Given the description of an element on the screen output the (x, y) to click on. 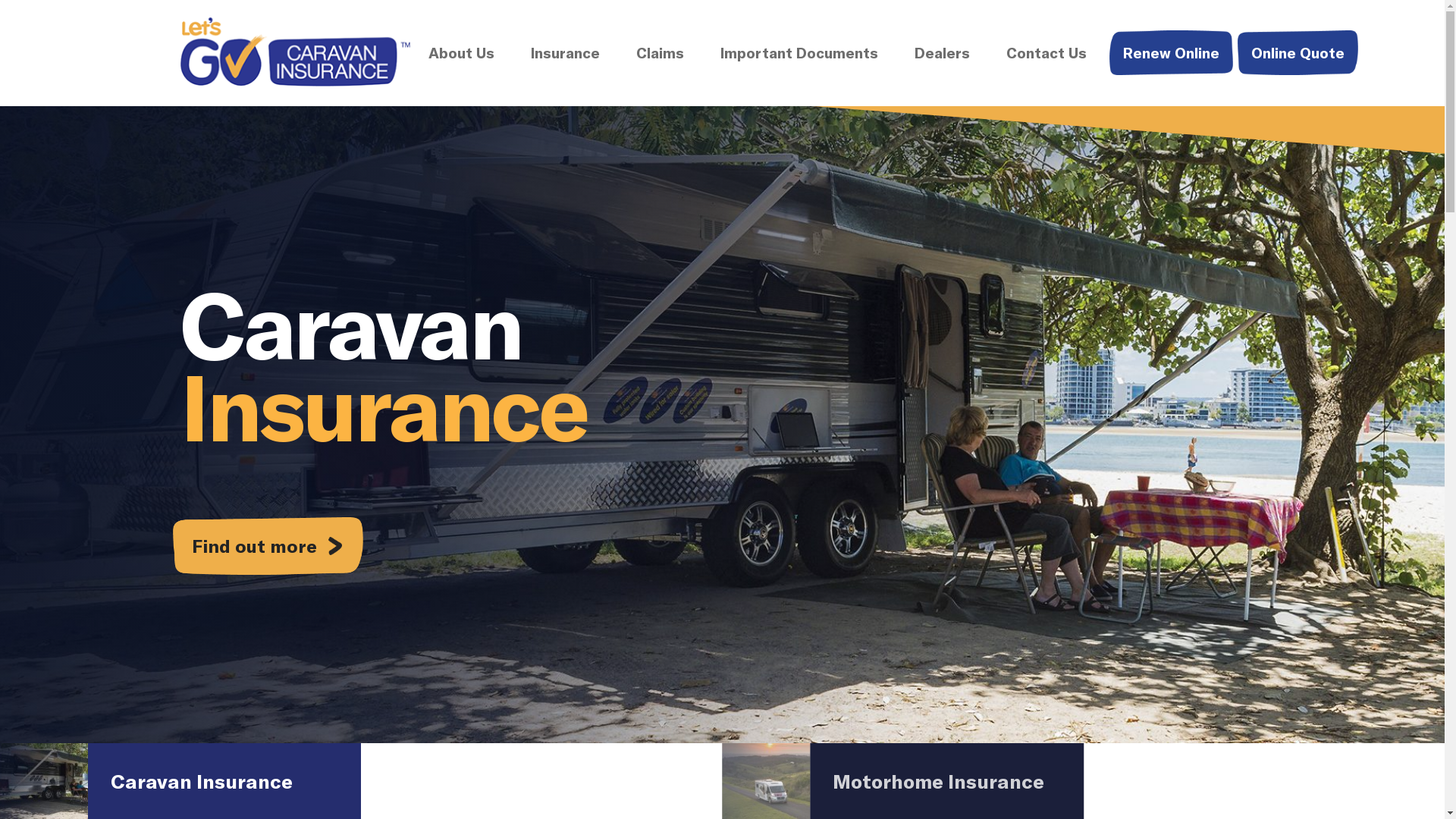
Claims Element type: text (660, 52)
Find out more Element type: text (267, 545)
About Us Element type: text (461, 52)
Important Documents Element type: text (799, 52)
Online Quote Element type: text (1297, 52)
Dealers Element type: text (941, 52)
Renew Online Element type: text (1171, 52)
Insurance Element type: text (564, 52)
Contact Us Element type: text (1046, 52)
